Given the description of an element on the screen output the (x, y) to click on. 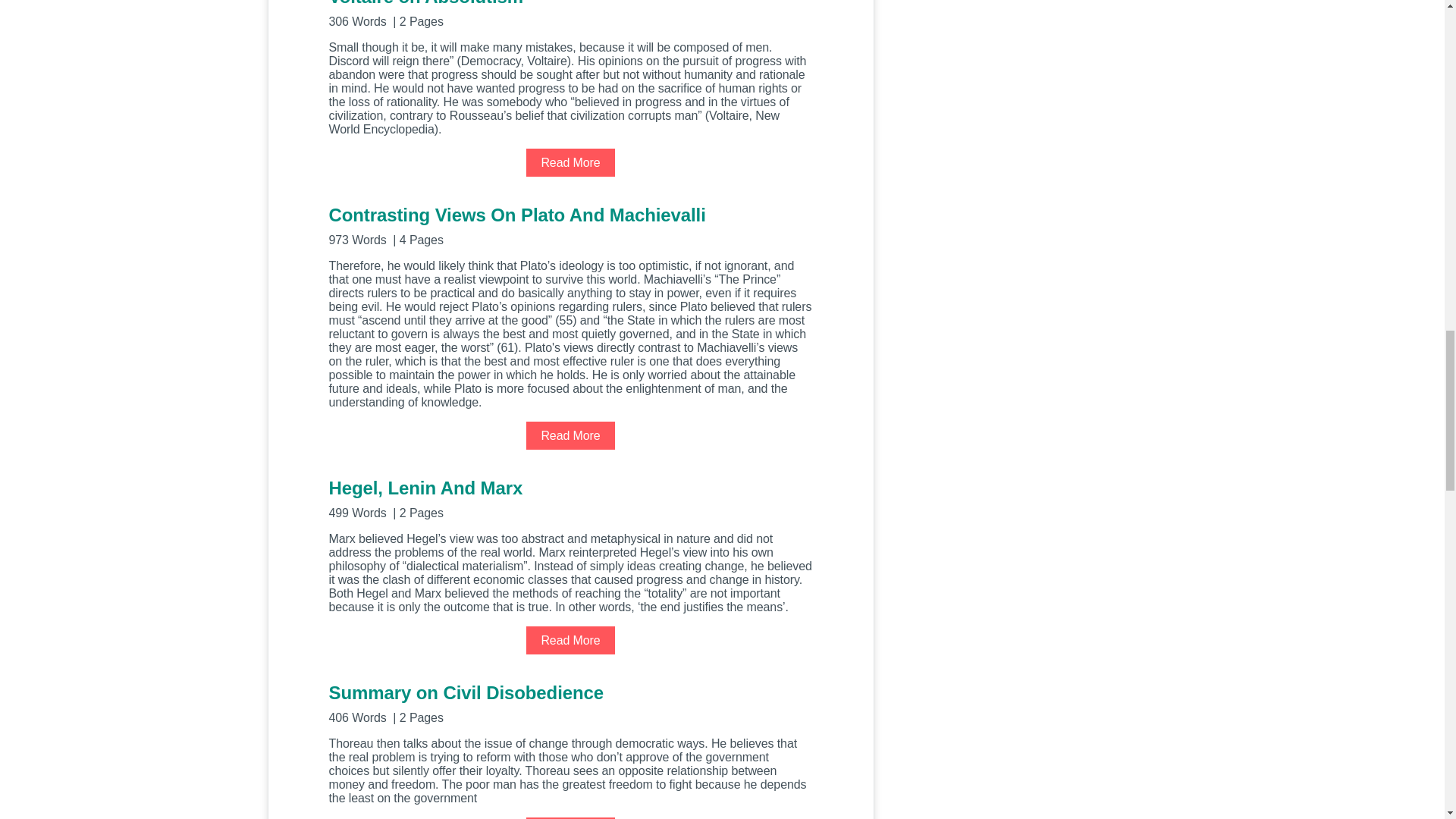
Read More (569, 435)
Hegel, Lenin And Marx (570, 497)
Contrasting Views On Plato And Machievalli (570, 224)
Voltaire on Absolutism (570, 13)
Read More (569, 818)
Read More (569, 162)
Read More (569, 640)
Summary on Civil Disobedience (570, 701)
